Given the description of an element on the screen output the (x, y) to click on. 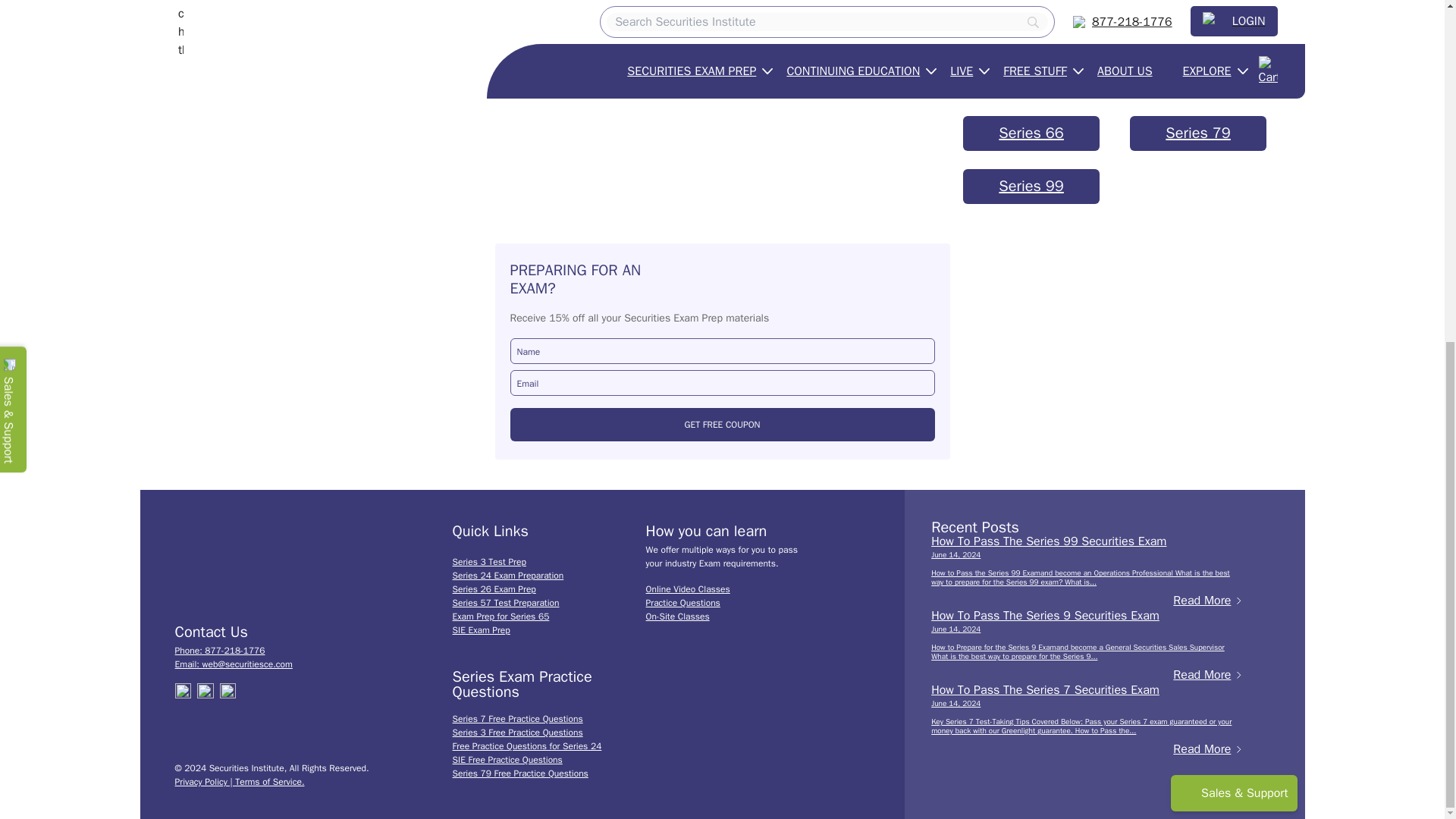
Get Free Coupon (721, 424)
